Given the description of an element on the screen output the (x, y) to click on. 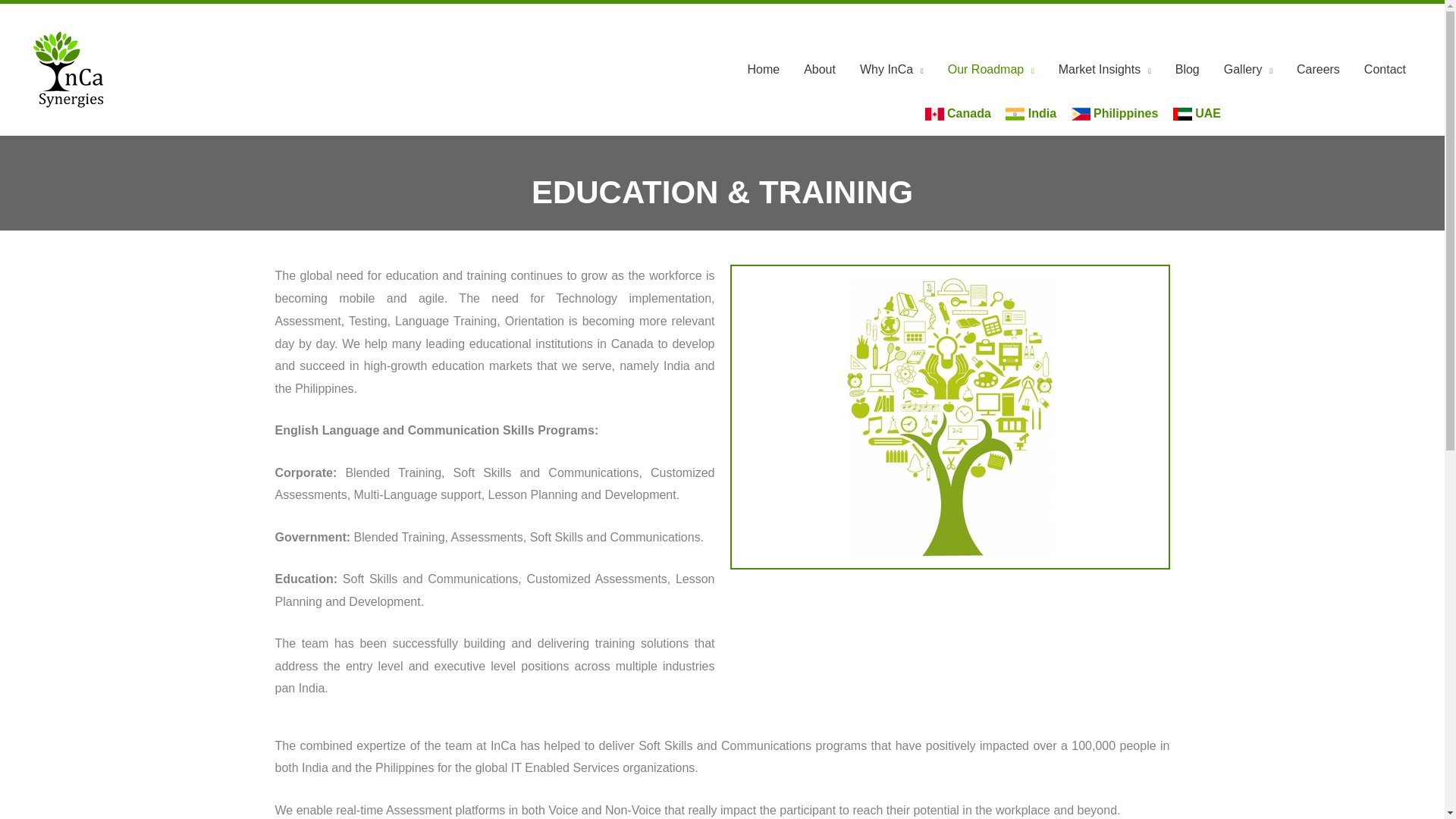
Home (763, 69)
Gallery (1247, 69)
About (819, 69)
Market Insights (1104, 69)
Why InCa (891, 69)
Our Roadmap (991, 69)
Blog (1187, 69)
